Given the description of an element on the screen output the (x, y) to click on. 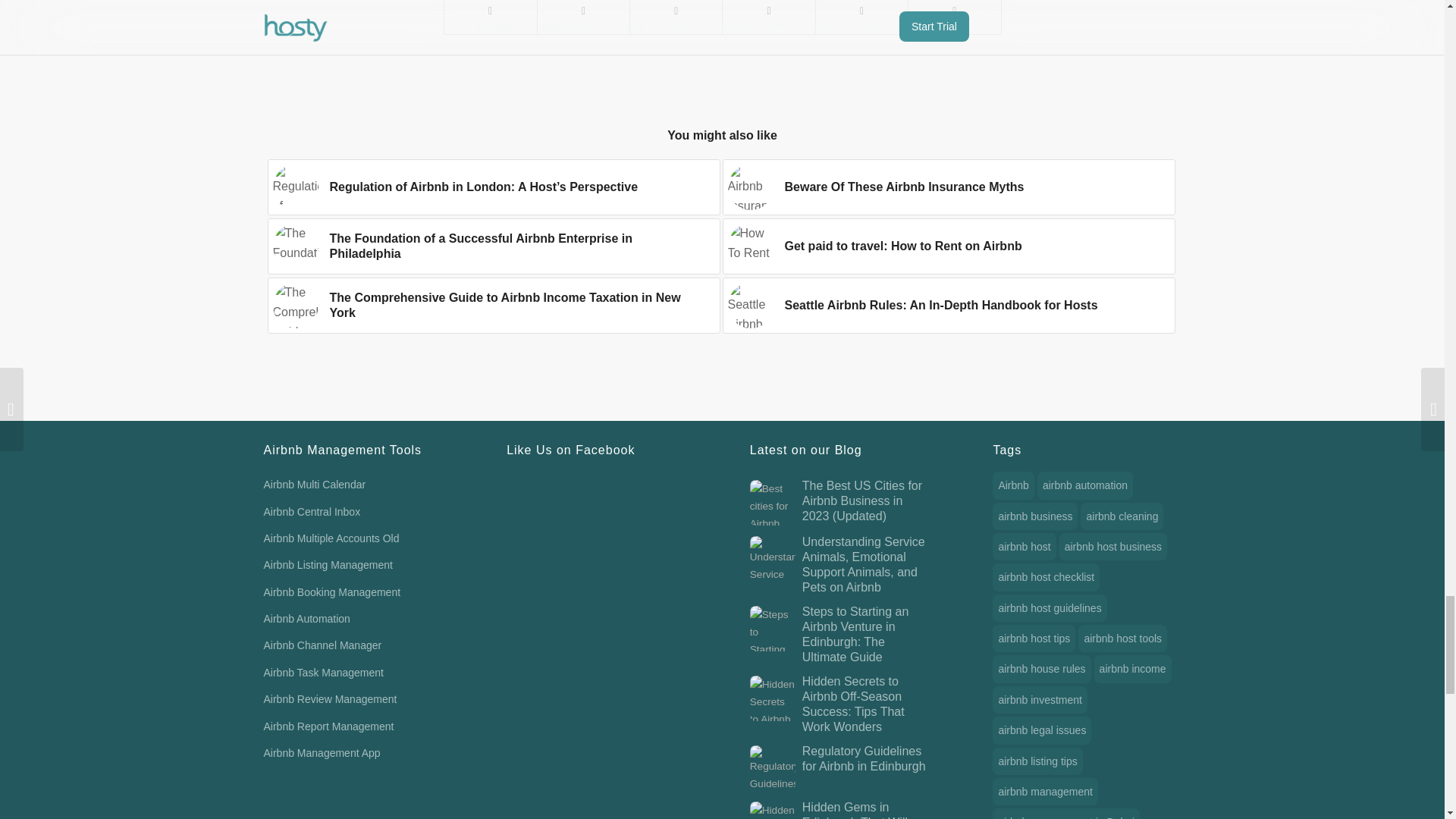
Airbnb Insurance Myths (750, 186)
Beware Of These Airbnb Insurance Myths (948, 186)
Get paid to travel: How to Rent on Airbnb (948, 246)
Regulation of Airbnb in London (295, 186)
